Given the description of an element on the screen output the (x, y) to click on. 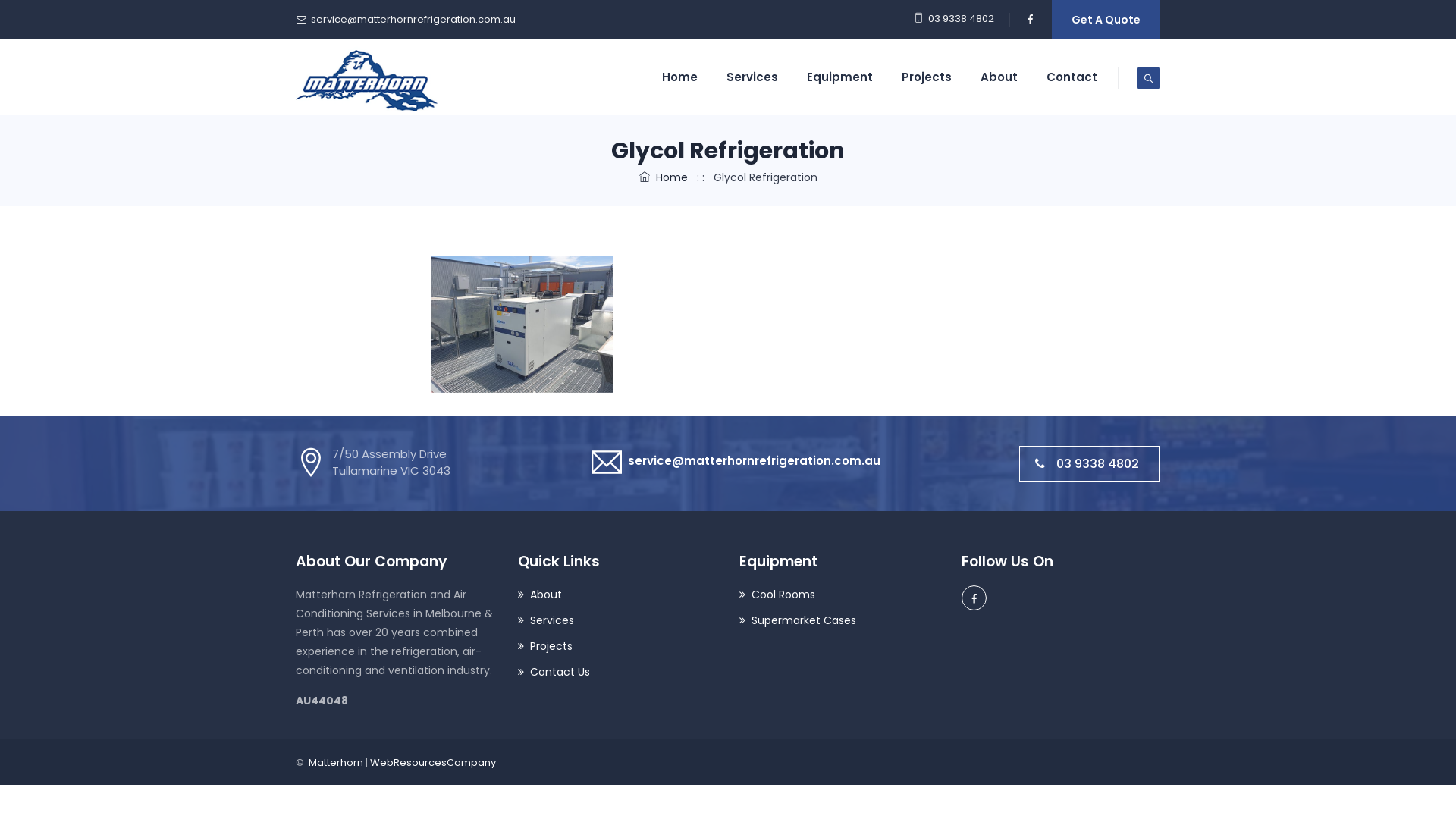
Supermarket Cases Element type: text (797, 620)
Services Element type: text (751, 77)
Cool Rooms Element type: text (777, 594)
03 9338 4802 Element type: text (1089, 463)
Services Element type: text (545, 620)
Projects Element type: text (544, 646)
Get A Quote Element type: text (1105, 19)
Projects Element type: text (926, 77)
About Element type: text (998, 77)
WebResourcesCompany Element type: text (432, 762)
service@matterhornrefrigeration.com.au Element type: text (412, 19)
Home Element type: text (679, 77)
Contact Us Element type: text (553, 671)
Matterhorn Element type: hover (366, 77)
  Home Element type: text (662, 177)
Equipment Element type: text (839, 77)
Matterhorn Element type: text (336, 762)
Contact Element type: text (1071, 77)
About Element type: text (539, 594)
